Given the description of an element on the screen output the (x, y) to click on. 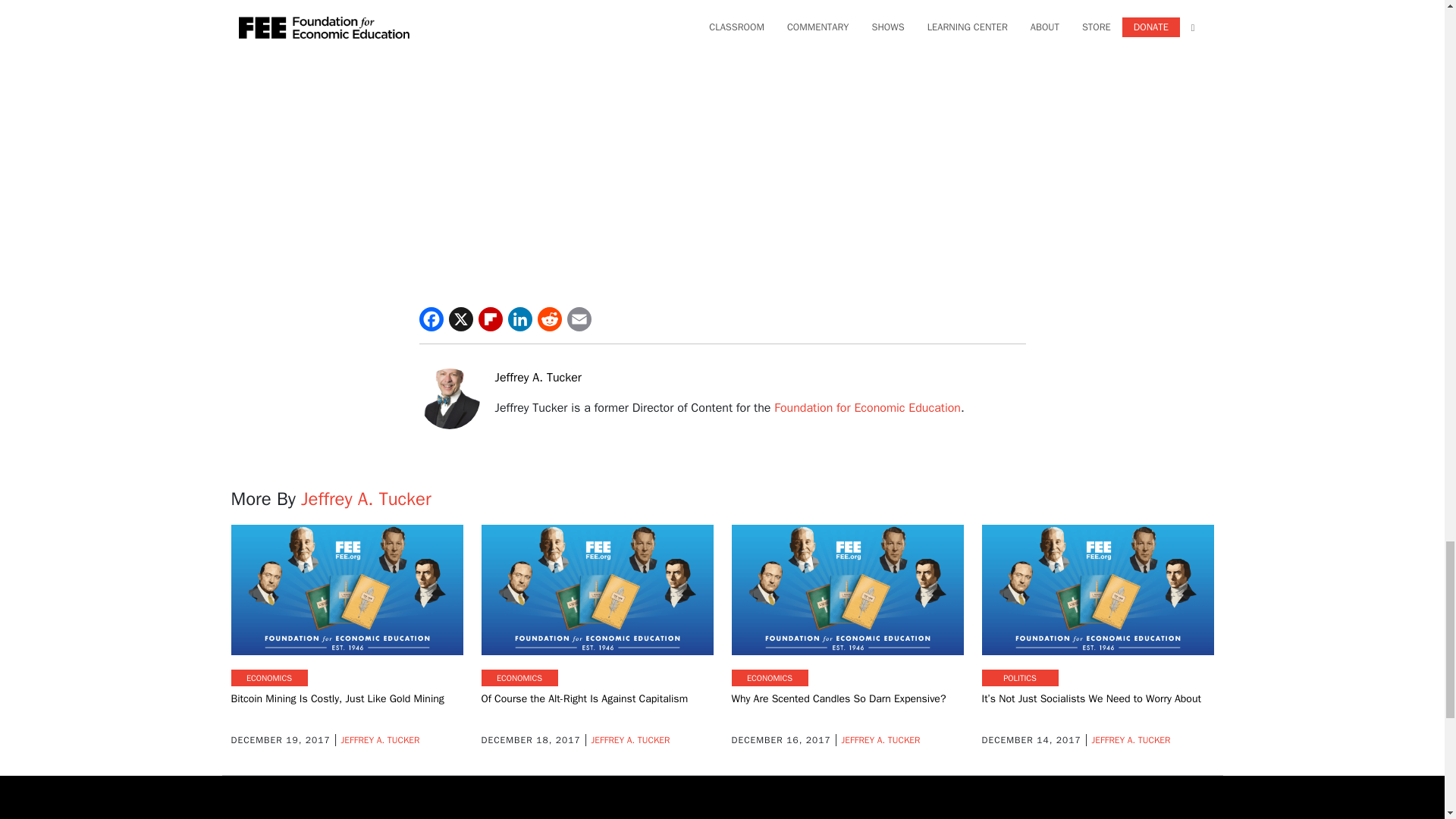
Jeffrey A. Tucker (537, 377)
ECONOMICS (269, 677)
Bitcoin Mining Is Costly, Just Like Gold Mining (337, 698)
Email (579, 319)
Flipboard (489, 319)
LinkedIn (520, 319)
Twitter (460, 319)
Reddit (548, 319)
JEFFREY A. TUCKER (379, 739)
Foundation for Economic Education (867, 407)
